Given the description of an element on the screen output the (x, y) to click on. 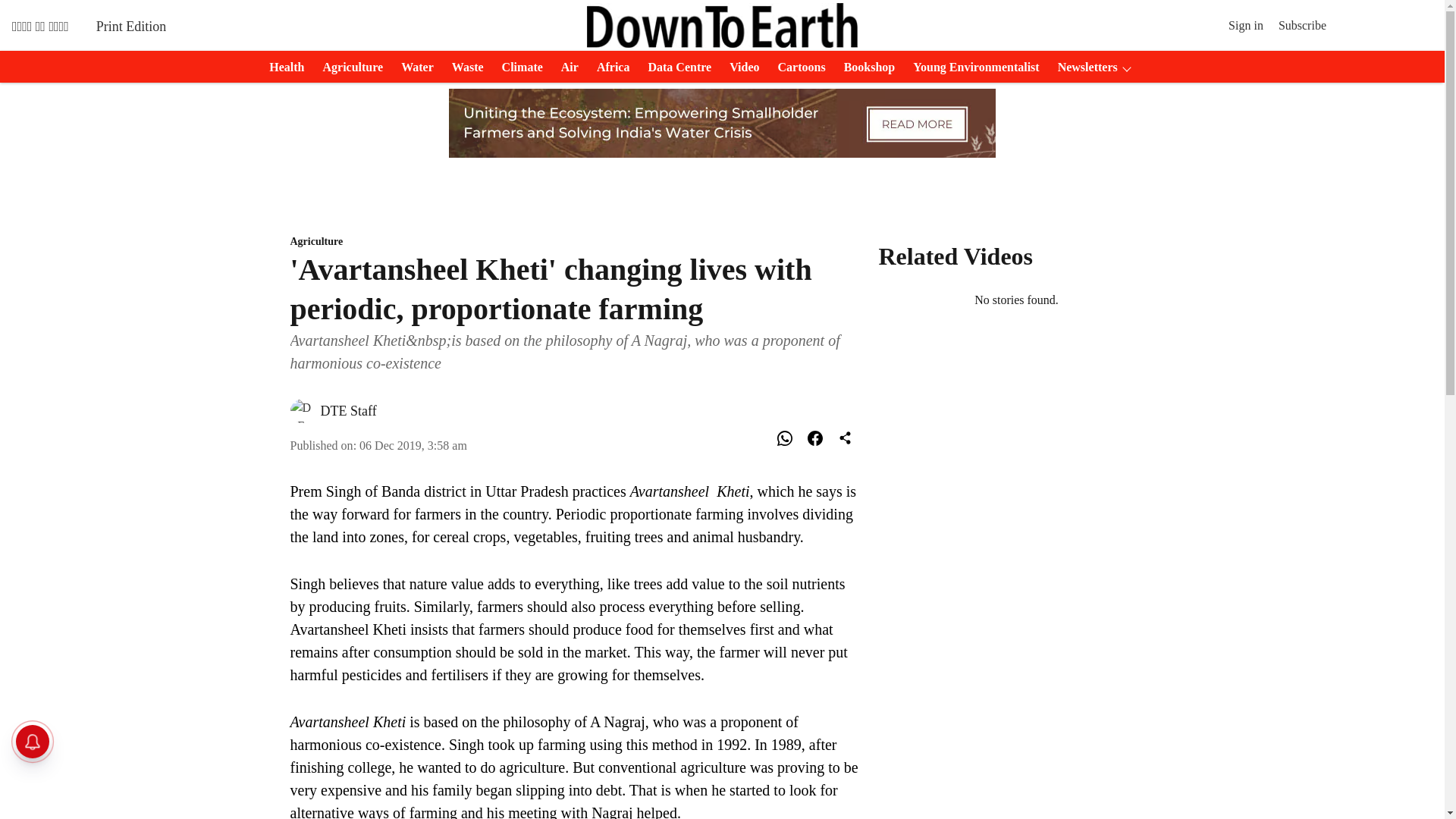
Young Environmentalist (971, 67)
Data Centre (675, 67)
Climate (518, 67)
Print Edition (131, 26)
Bookshop (864, 67)
Waste (462, 67)
Video (739, 67)
2019-12-06 03:58 (413, 445)
Agriculture (574, 242)
Health (282, 67)
Cartoons (796, 67)
Agriculture (347, 67)
Water (412, 67)
Africa (609, 67)
DTE Staff (347, 410)
